Given the description of an element on the screen output the (x, y) to click on. 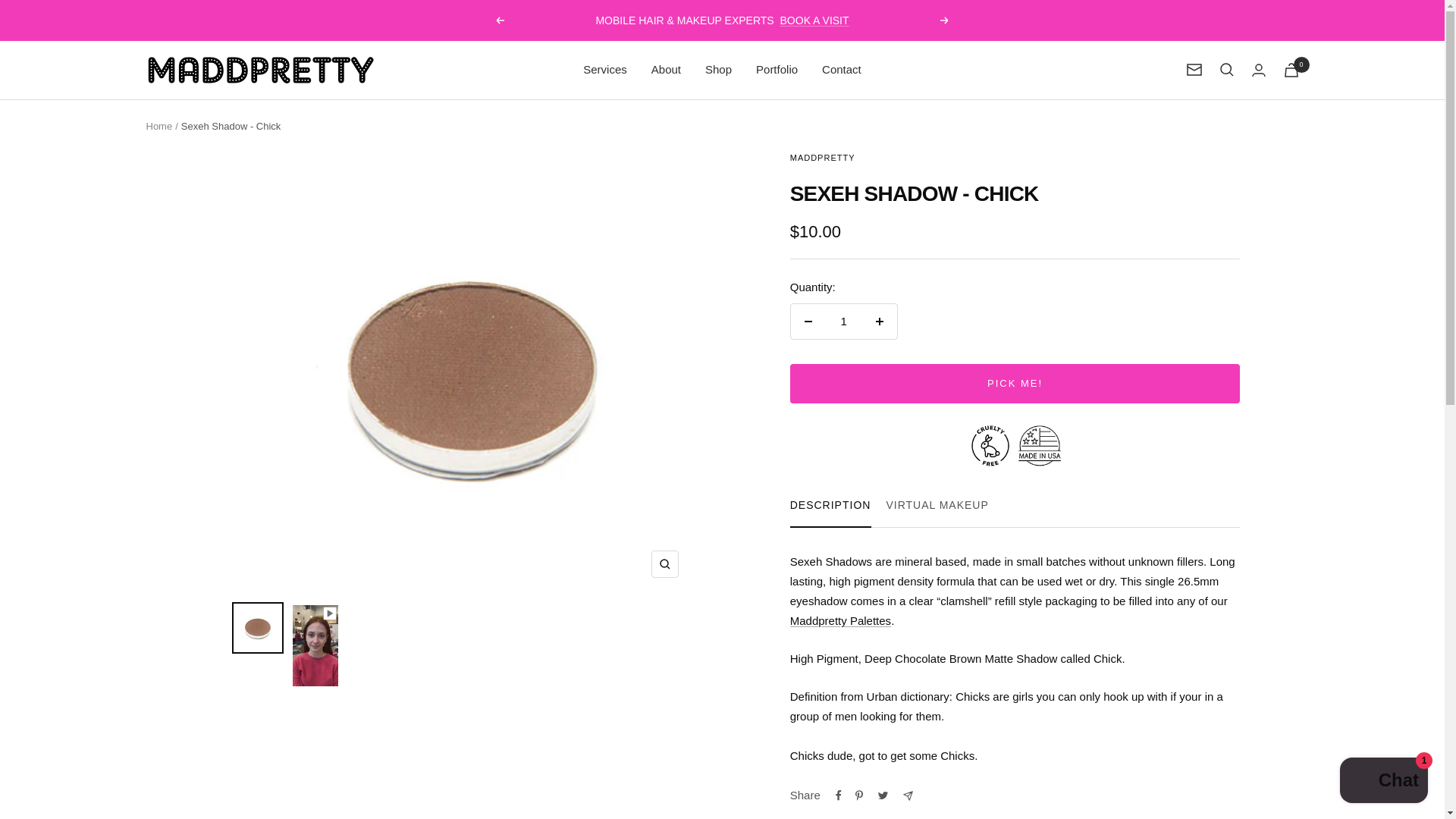
Maddpretty (1015, 506)
Portfolio (258, 69)
Home (776, 69)
Previous (158, 125)
Shop (1015, 506)
VIRTUAL MAKEUP (499, 20)
Decrease quantity (718, 69)
1 (936, 506)
Next (807, 321)
Zoom (843, 321)
Maddpretty Palettes (944, 20)
Shopify online store chat (664, 564)
0 (840, 620)
